Given the description of an element on the screen output the (x, y) to click on. 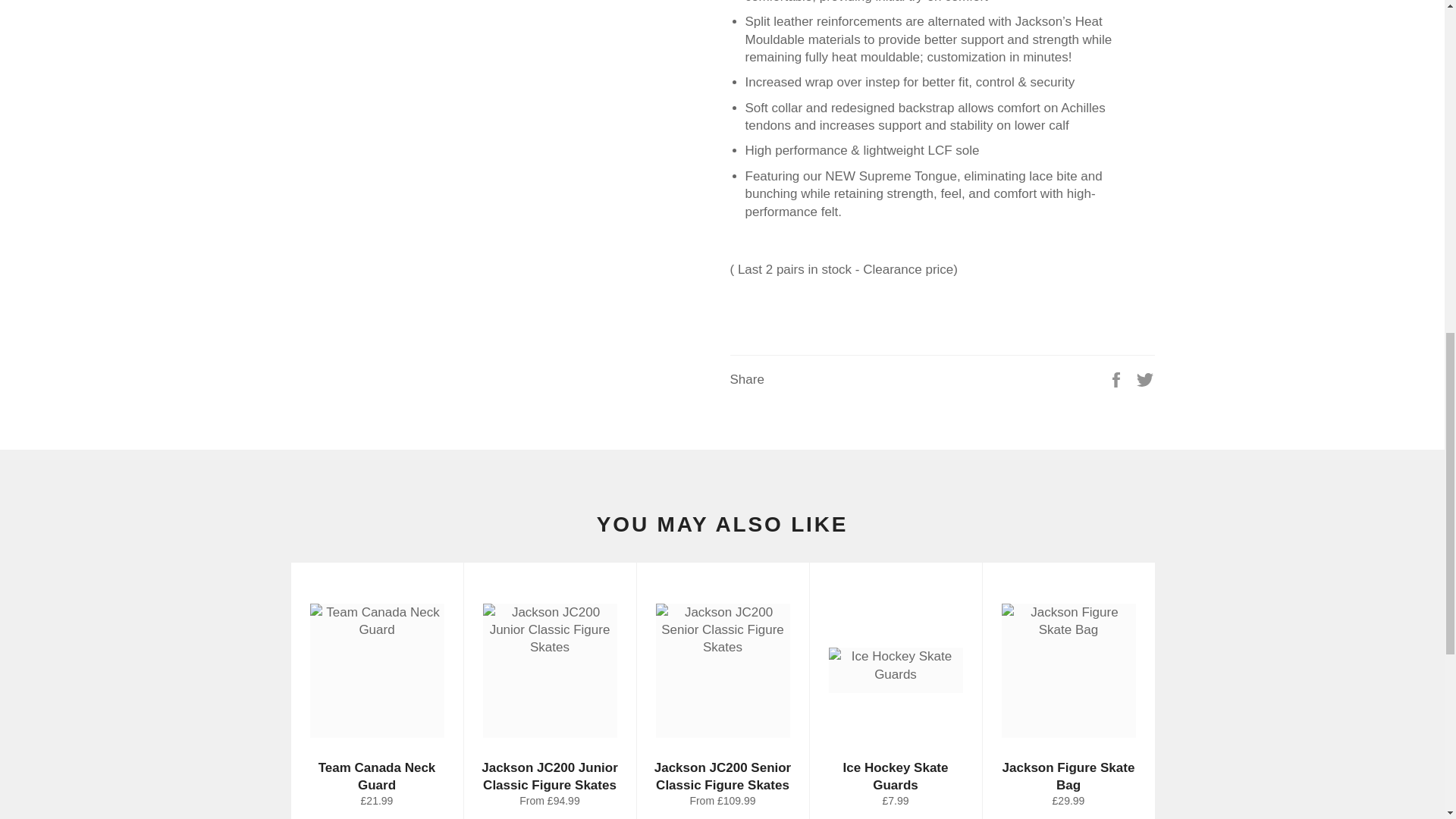
Share on Facebook (1117, 379)
Tweet on Twitter (1144, 379)
